Given the description of an element on the screen output the (x, y) to click on. 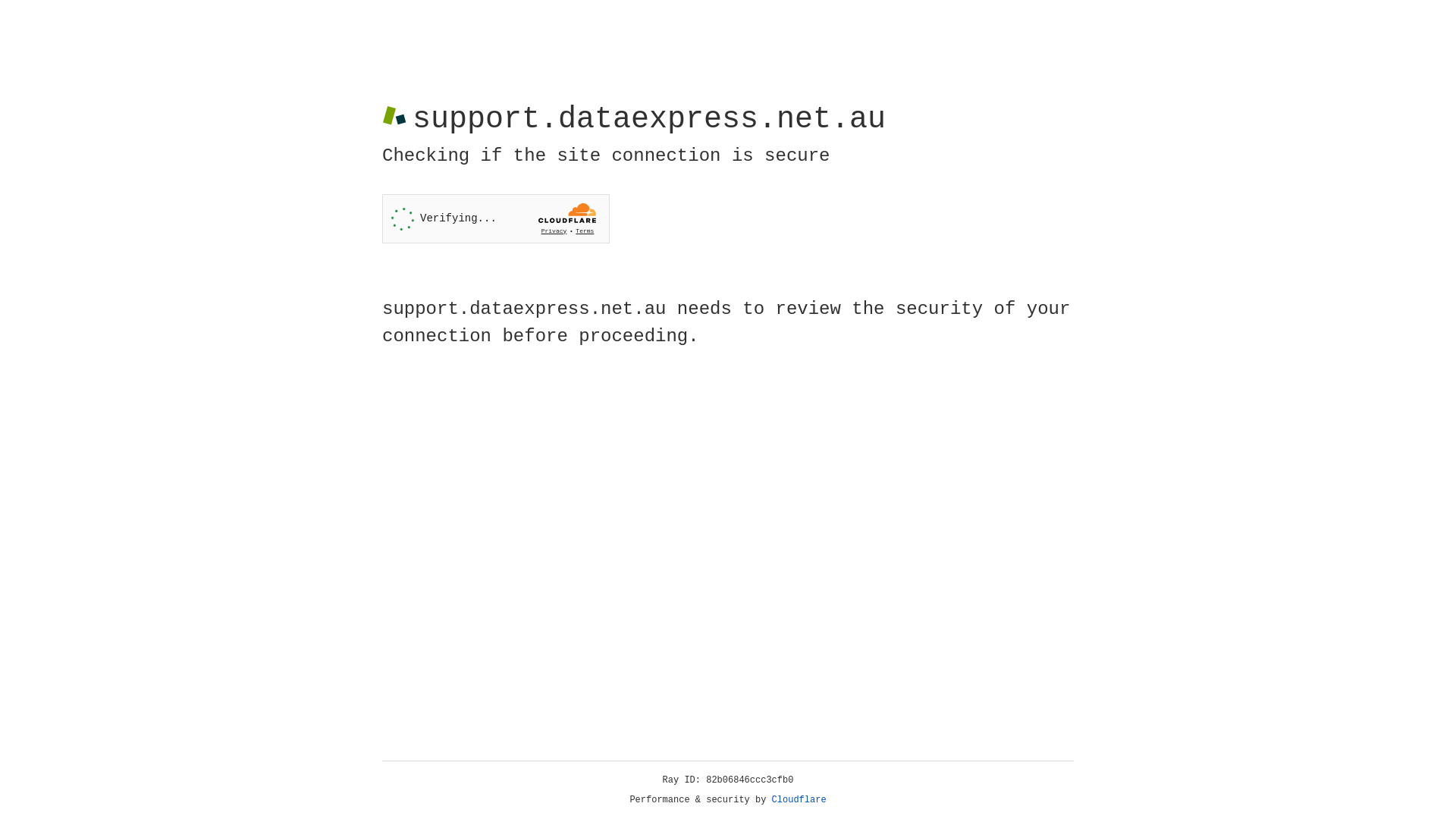
Cloudflare Element type: text (798, 799)
Widget containing a Cloudflare security challenge Element type: hover (495, 218)
